Given the description of an element on the screen output the (x, y) to click on. 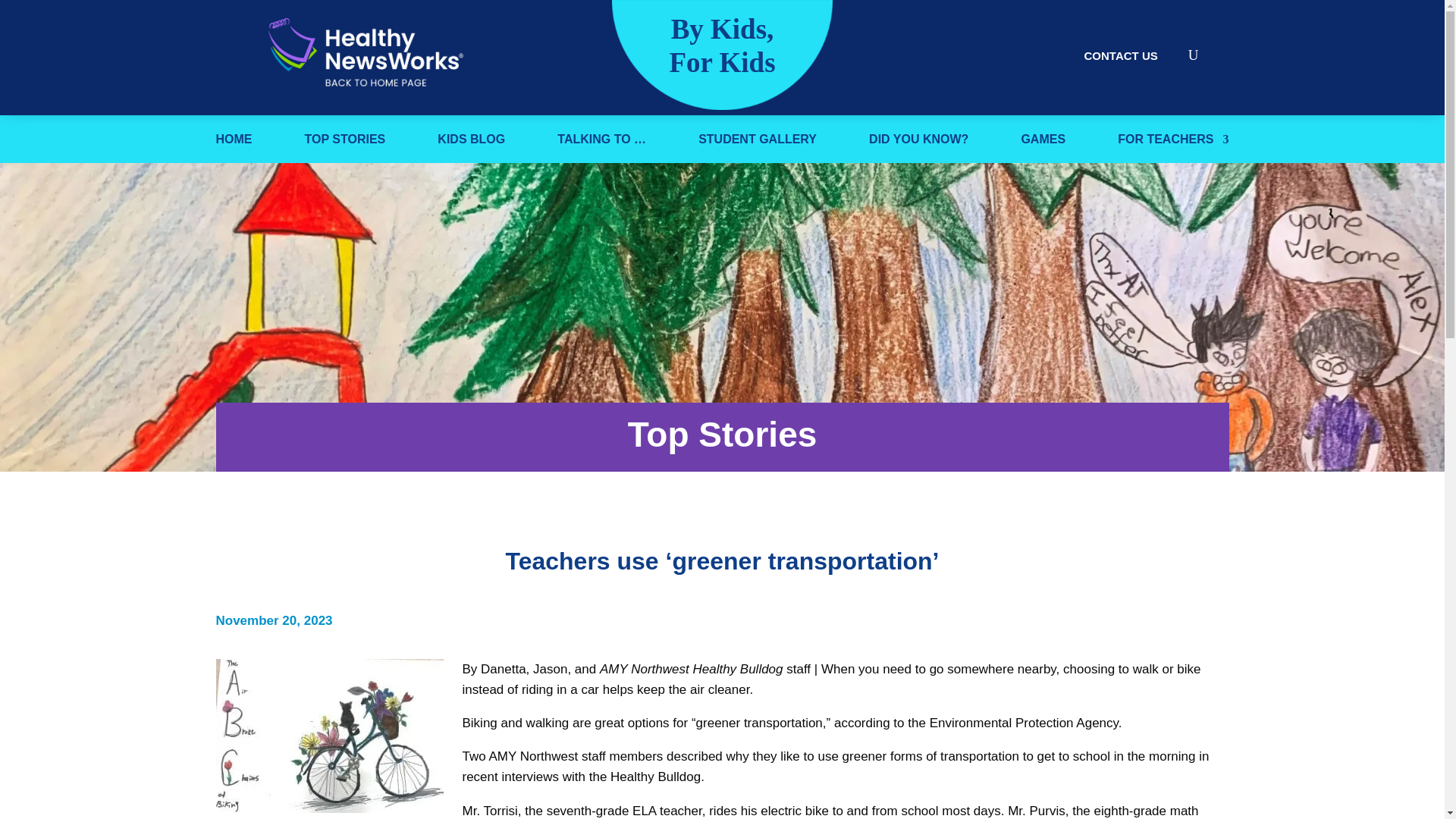
GAMES (1042, 142)
FOR TEACHERS (1173, 142)
TOP STORIES (344, 142)
HOME (233, 142)
DID YOU KNOW? (918, 142)
CONTACT US (1120, 55)
STUDENT GALLERY (757, 142)
KIDS BLOG (471, 142)
